Given the description of an element on the screen output the (x, y) to click on. 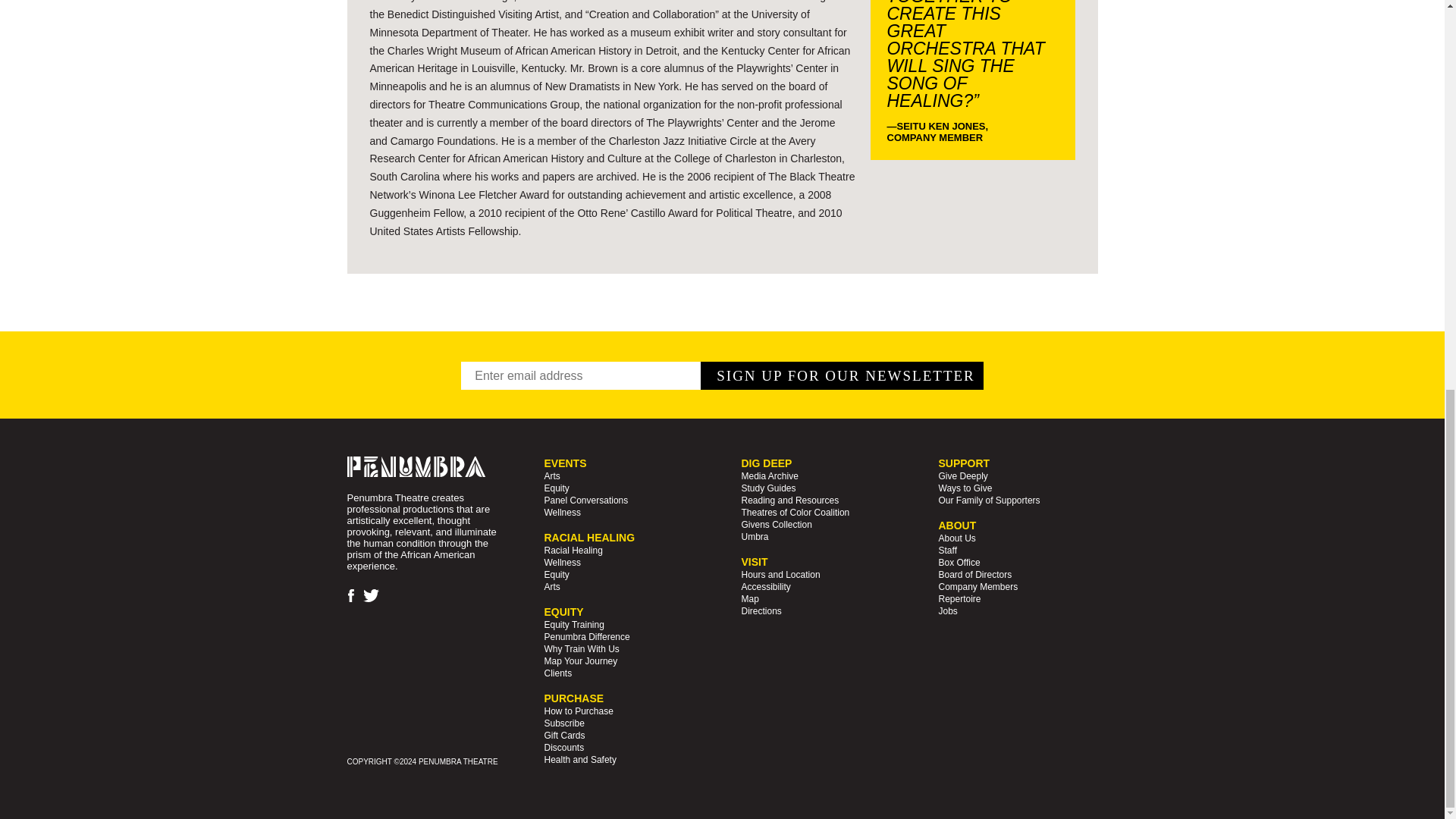
Arts (552, 586)
Wellness (562, 562)
SIGN UP FOR OUR NEWSLETTER (842, 375)
Equity Training (574, 624)
EVENTS (565, 463)
EQUITY (563, 612)
Equity (556, 488)
RACIAL HEALING (589, 537)
Equity (556, 574)
SIGN UP FOR OUR NEWSLETTER (842, 375)
